Given the description of an element on the screen output the (x, y) to click on. 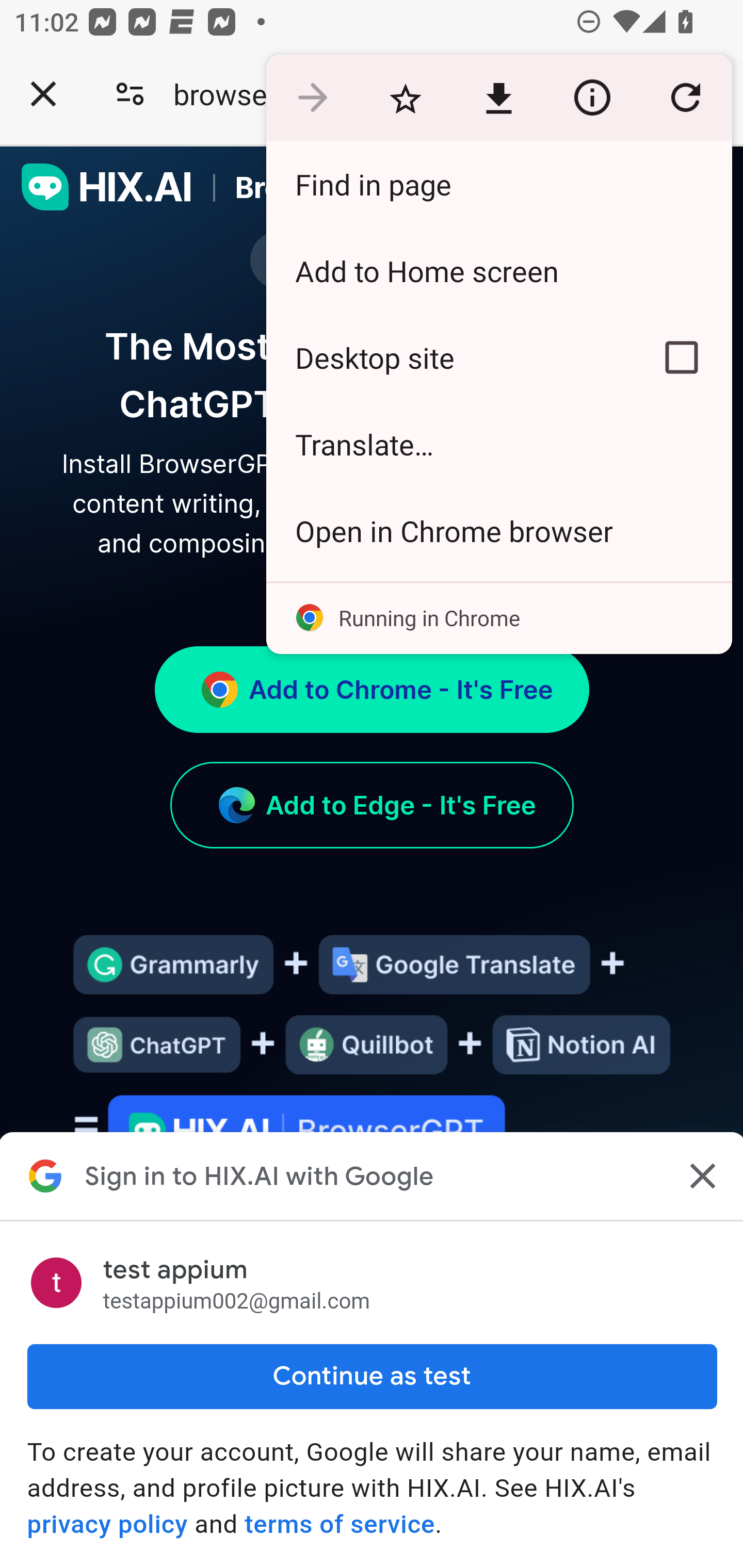
Go forward (311, 97)
Bookmark (404, 97)
Download this page (498, 97)
View site information (591, 97)
Stop refreshing (684, 97)
Find in page (498, 184)
Add to Home screen (498, 270)
Desktop site Turn on Request desktop site (447, 357)
Translate… (498, 444)
Open in Chrome browser (498, 530)
